Given the description of an element on the screen output the (x, y) to click on. 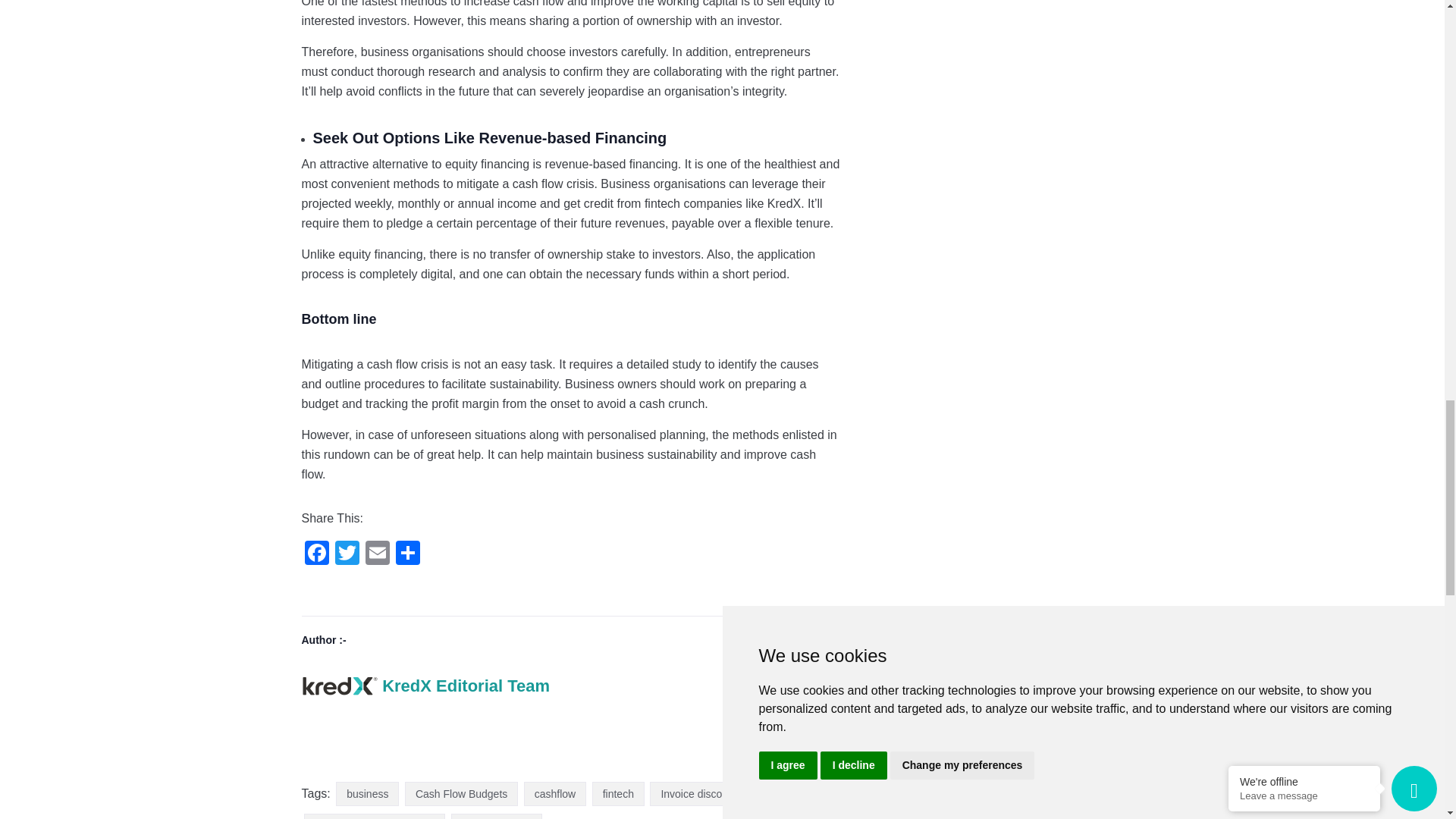
Twitter (346, 554)
Facebook (316, 554)
Email (377, 554)
Posts by KredX Editorial Team (465, 686)
